Given the description of an element on the screen output the (x, y) to click on. 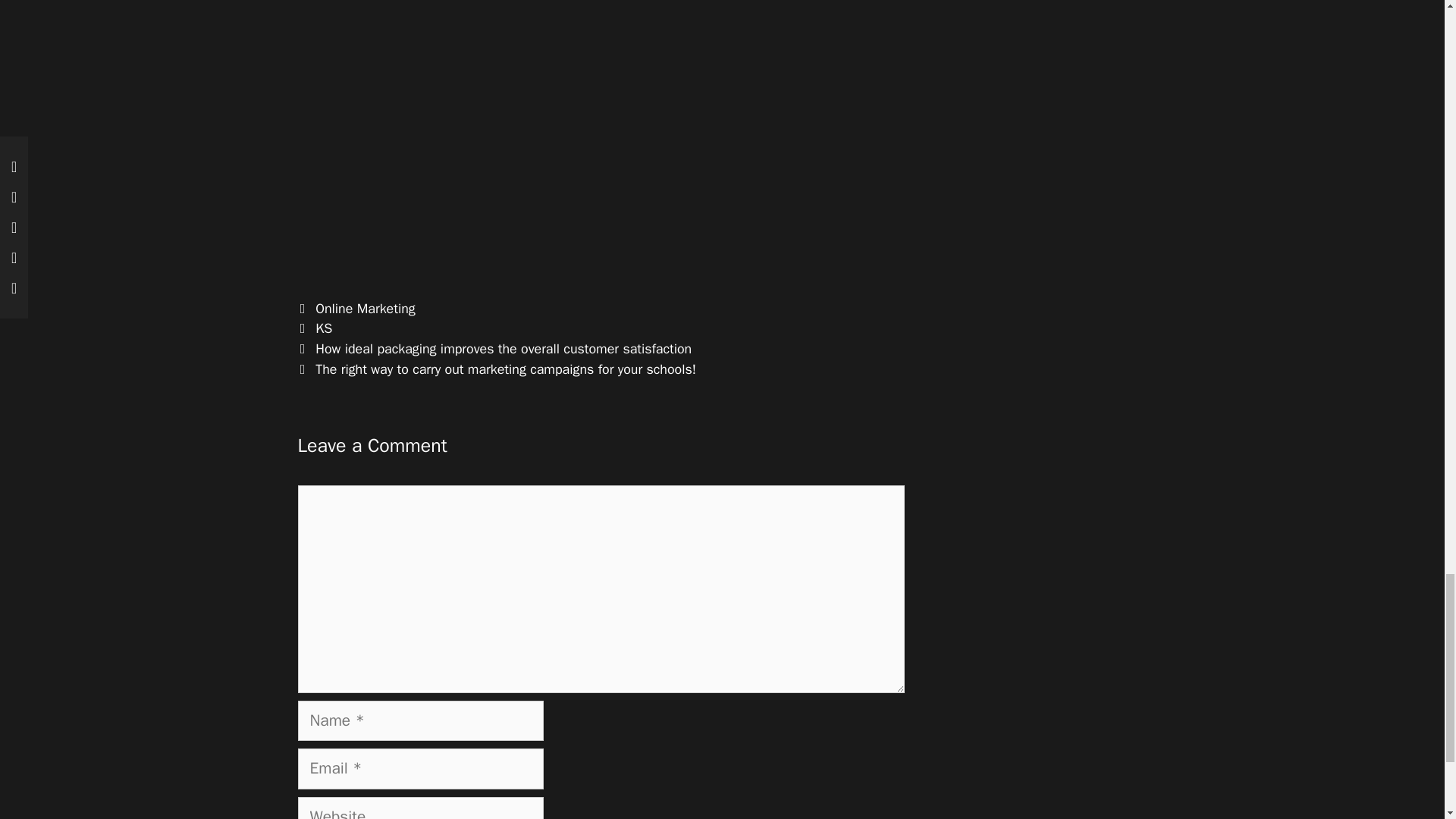
Next (496, 369)
KS (323, 328)
Previous (494, 348)
Online Marketing (364, 308)
